Given the description of an element on the screen output the (x, y) to click on. 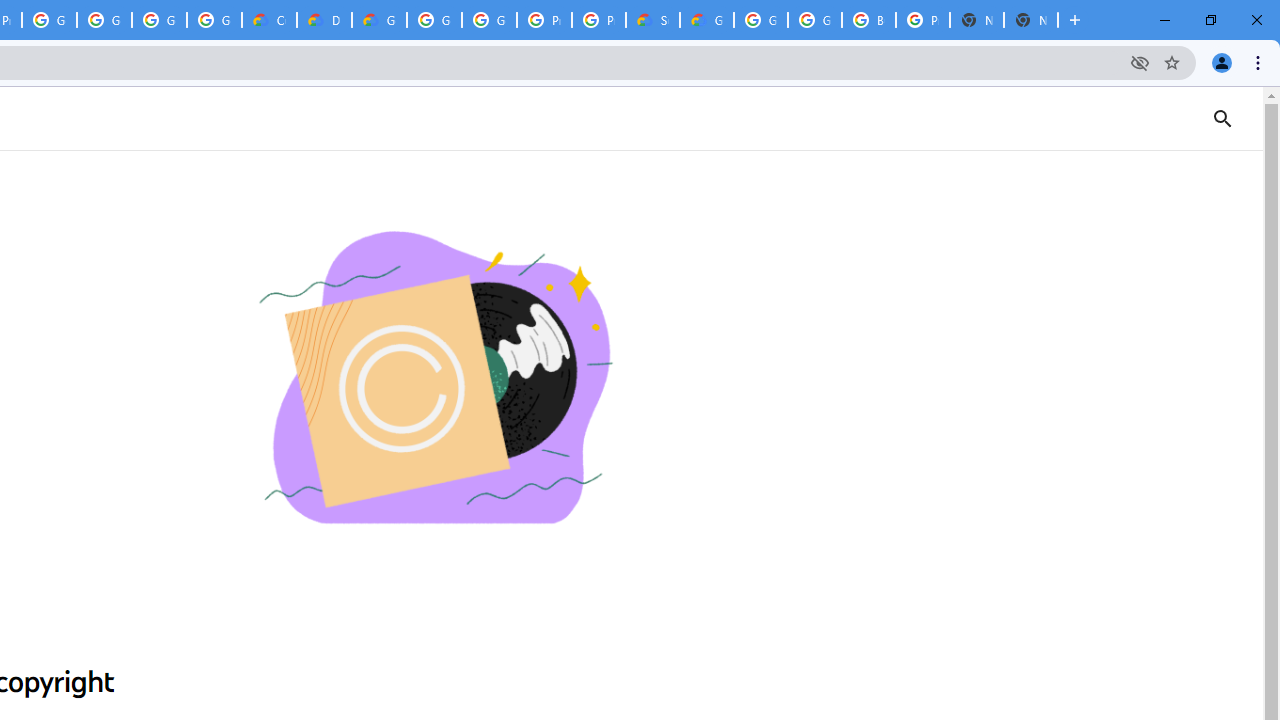
Search (1248, 117)
Google Cloud Platform (815, 20)
Third-party cookies blocked (1139, 62)
Search (1222, 118)
Google Cloud Platform (434, 20)
Minimize (1165, 20)
Google Cloud Platform (489, 20)
Chrome (1260, 62)
Bookmark this tab (1171, 62)
New Tab (1030, 20)
Close (1256, 20)
